Given the description of an element on the screen output the (x, y) to click on. 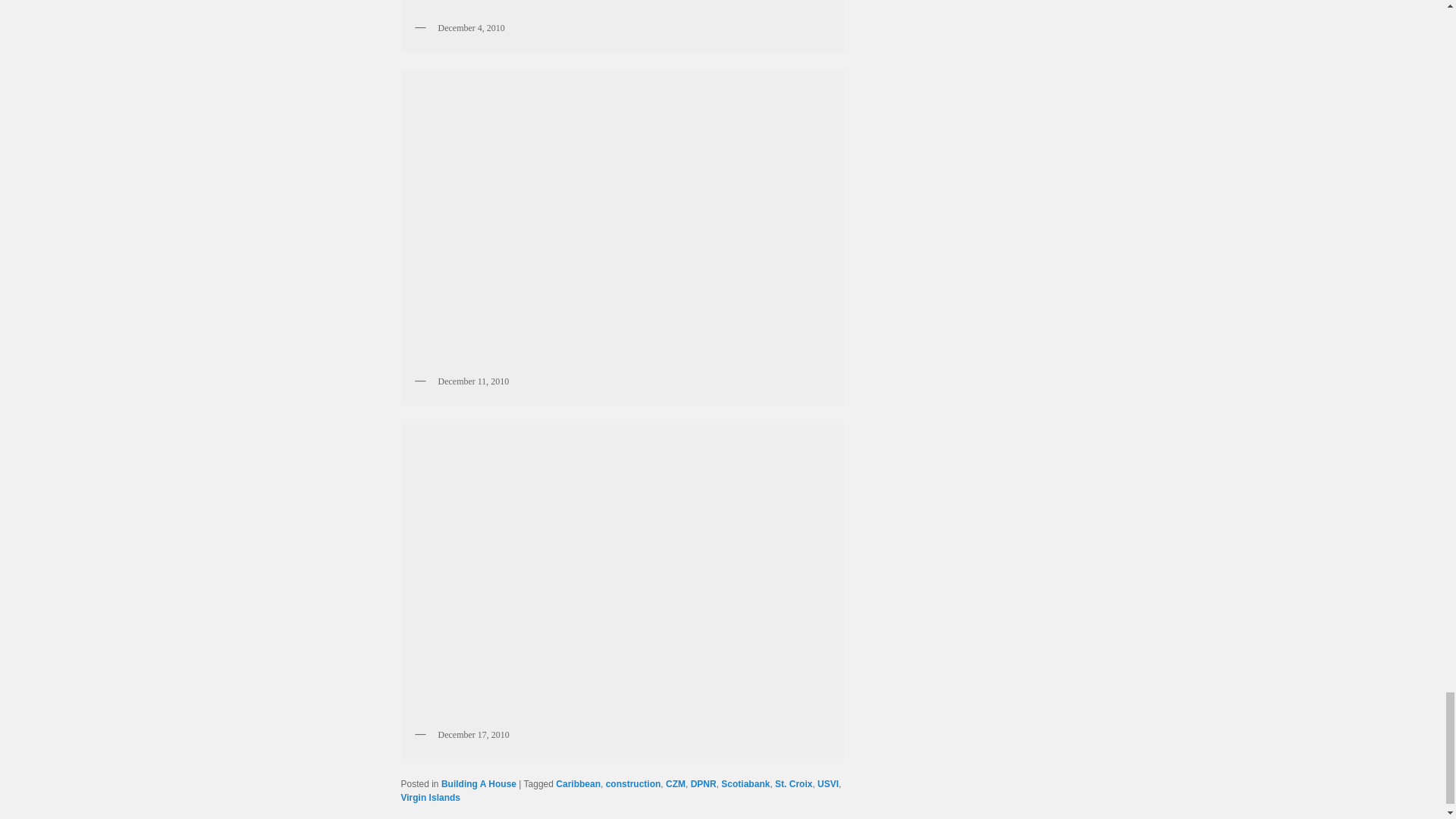
December 17, 2010 (622, 575)
December 11, 2010 (622, 221)
December 4, 2010 (622, 7)
